Given the description of an element on the screen output the (x, y) to click on. 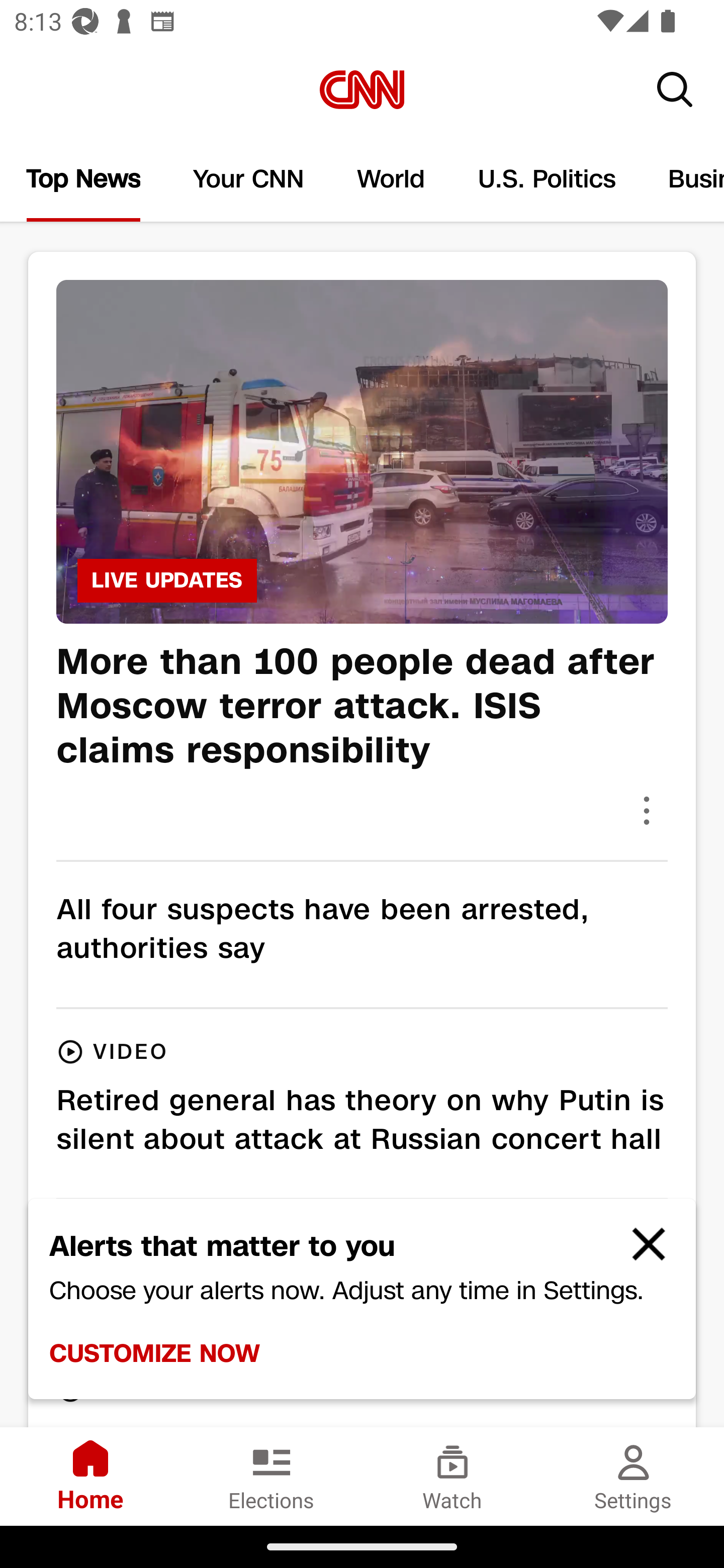
Your CNN (248, 179)
World (390, 179)
U.S. Politics (546, 179)
More actions (646, 810)
close (639, 1251)
Elections (271, 1475)
Watch (452, 1475)
Settings (633, 1475)
